Given the description of an element on the screen output the (x, y) to click on. 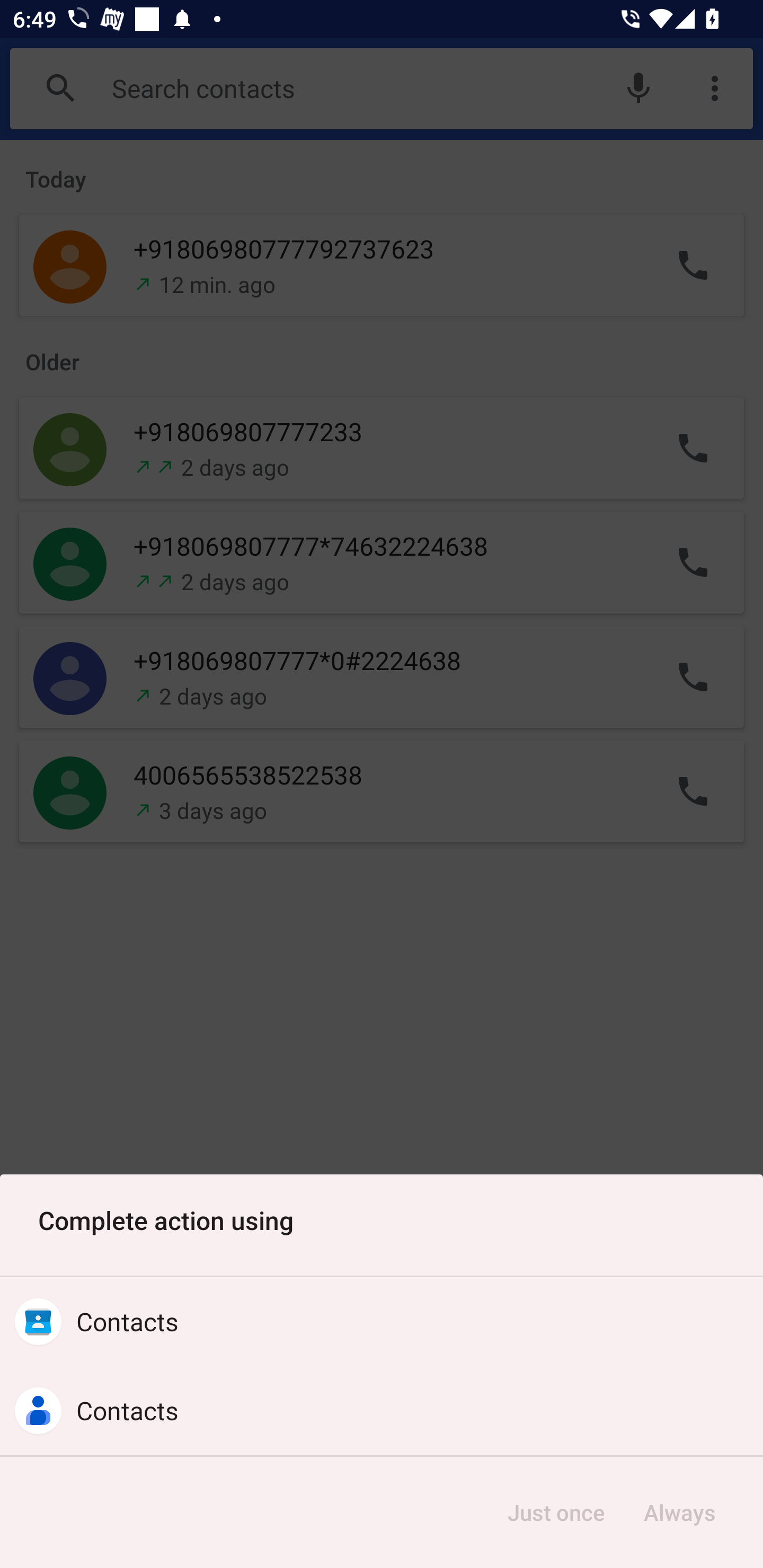
Contacts (381, 1321)
Contacts (381, 1410)
Just once (556, 1512)
Always (679, 1512)
